Given the description of an element on the screen output the (x, y) to click on. 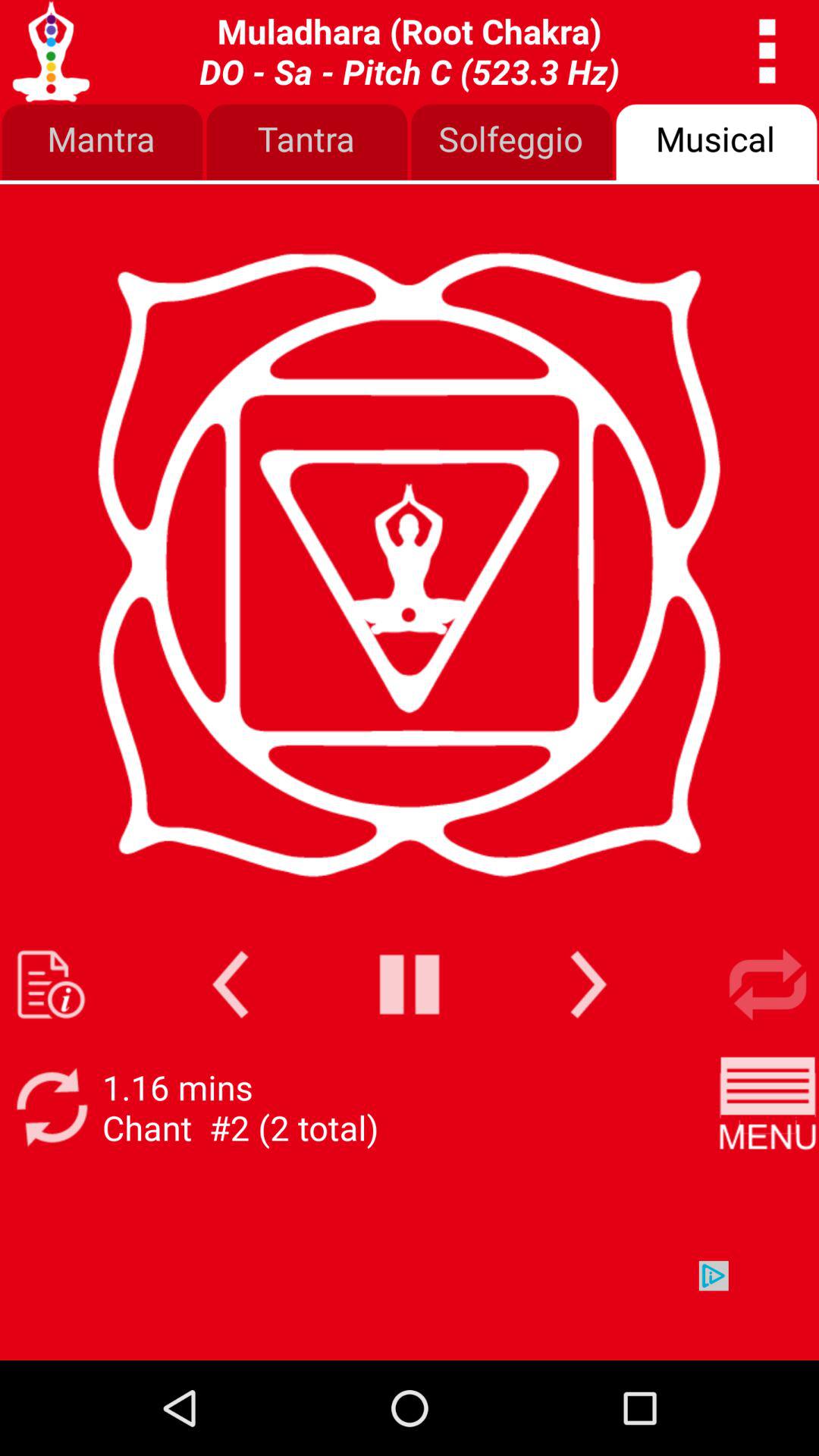
scroll until mantra button (102, 143)
